Given the description of an element on the screen output the (x, y) to click on. 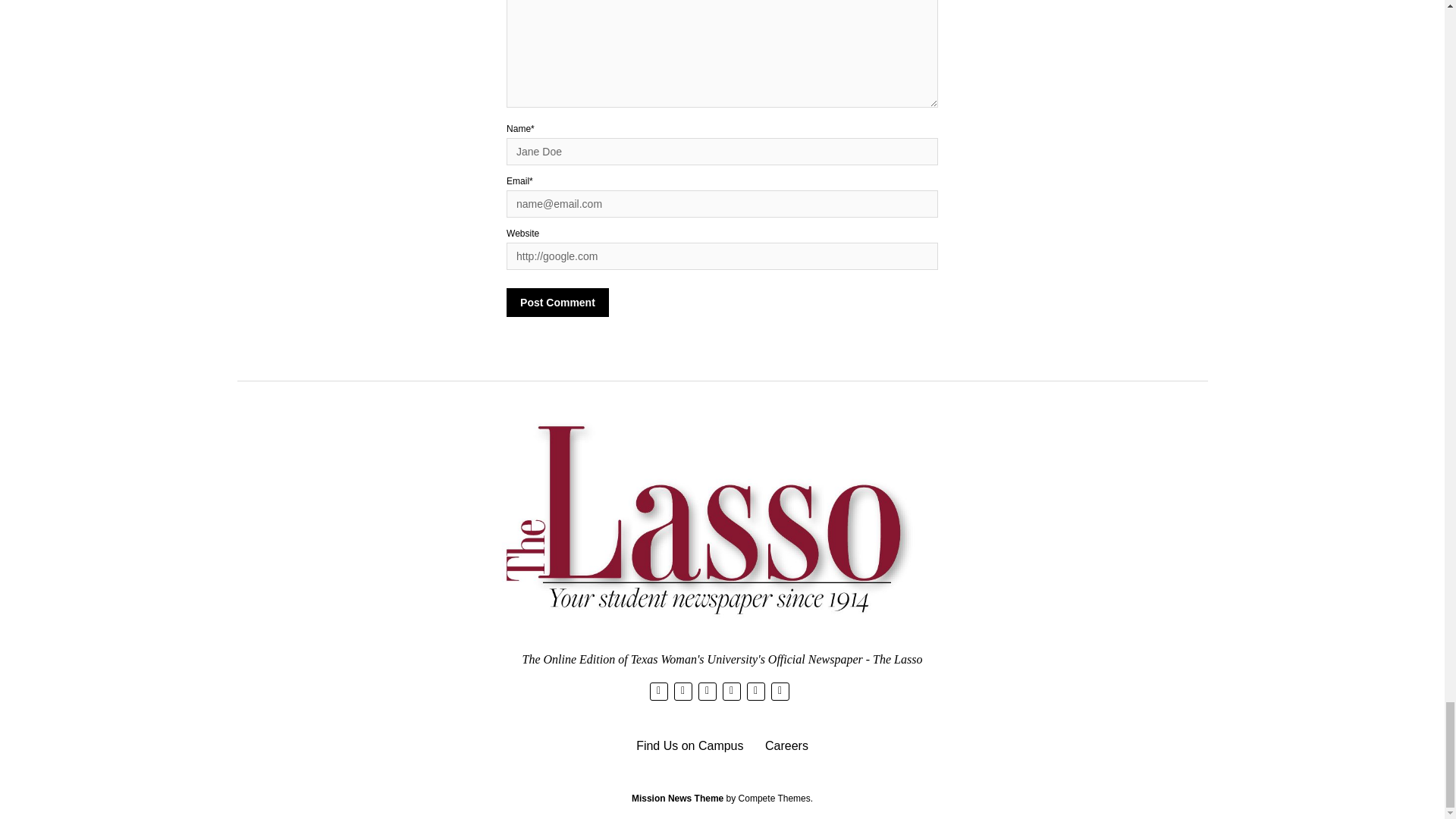
Post Comment (557, 302)
